Given the description of an element on the screen output the (x, y) to click on. 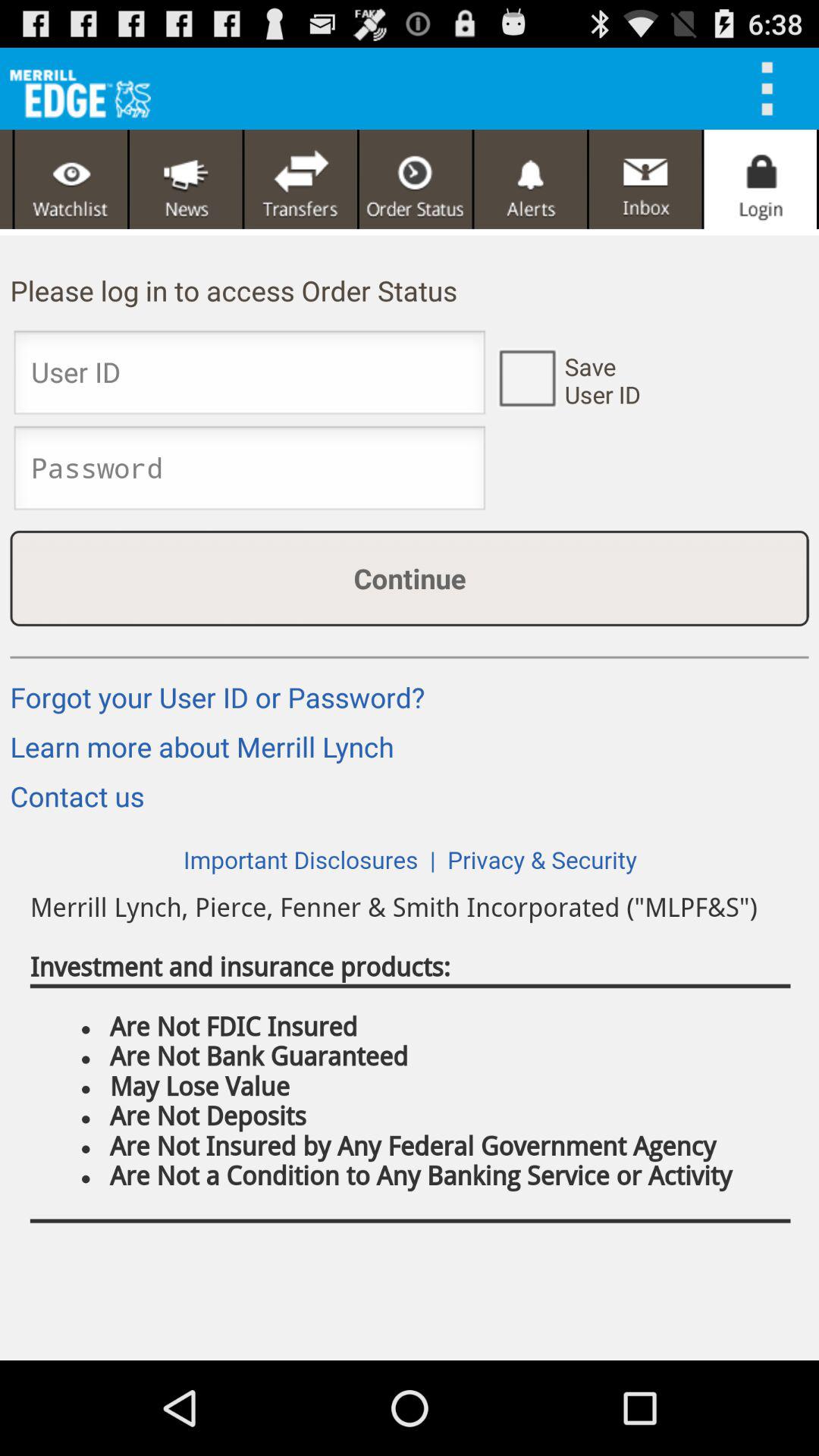
user id (249, 376)
